Given the description of an element on the screen output the (x, y) to click on. 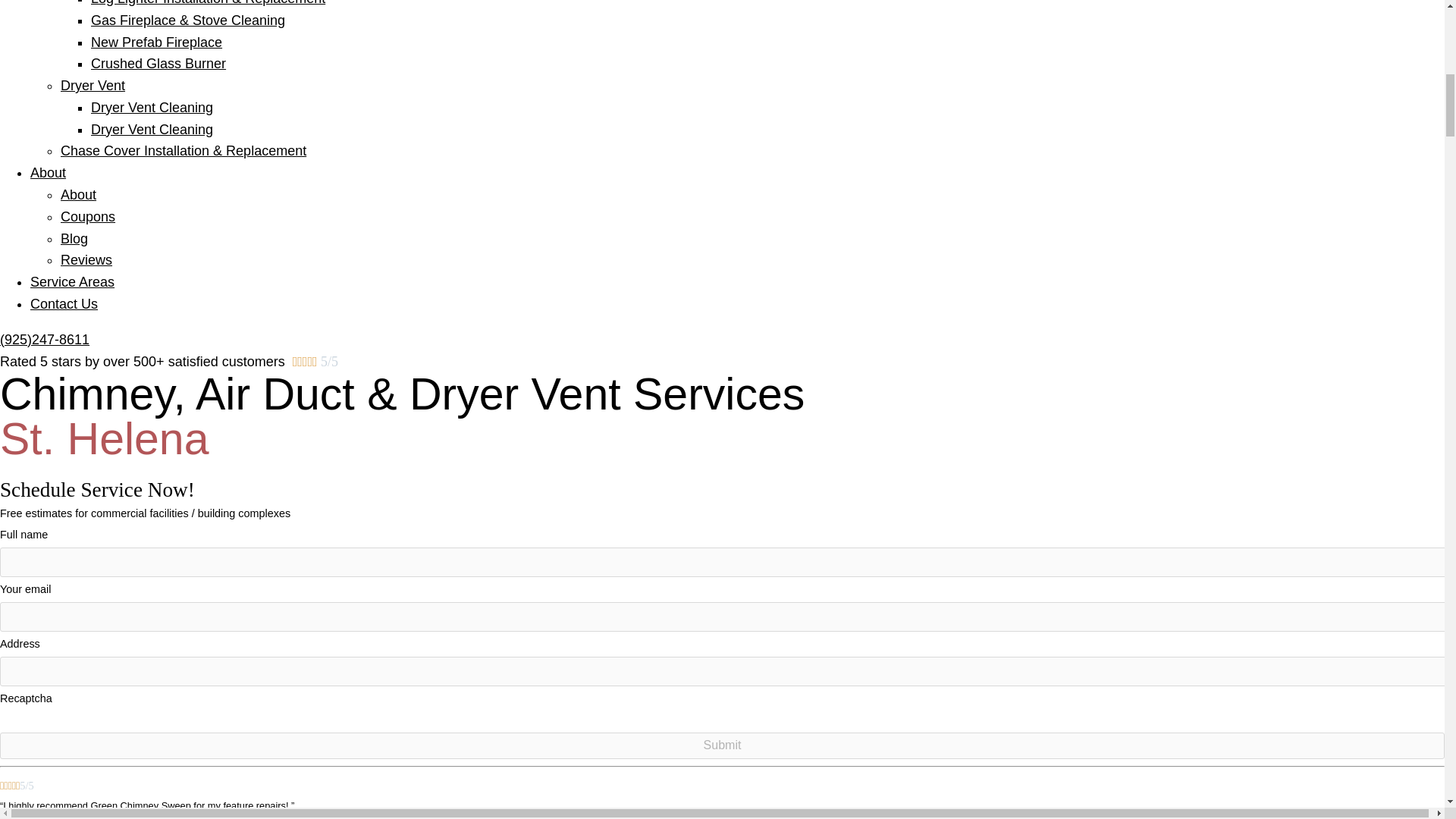
Dryer Vent (93, 85)
About (78, 194)
Service Areas (72, 281)
Blog (74, 238)
About (47, 172)
Reviews (86, 259)
Dryer Vent Cleaning (151, 107)
Contact Us (63, 304)
Coupons (88, 216)
Dryer Vent Cleaning (151, 129)
Submit (722, 745)
Crushed Glass Burner (157, 63)
New Prefab Fireplace (156, 42)
